Given the description of an element on the screen output the (x, y) to click on. 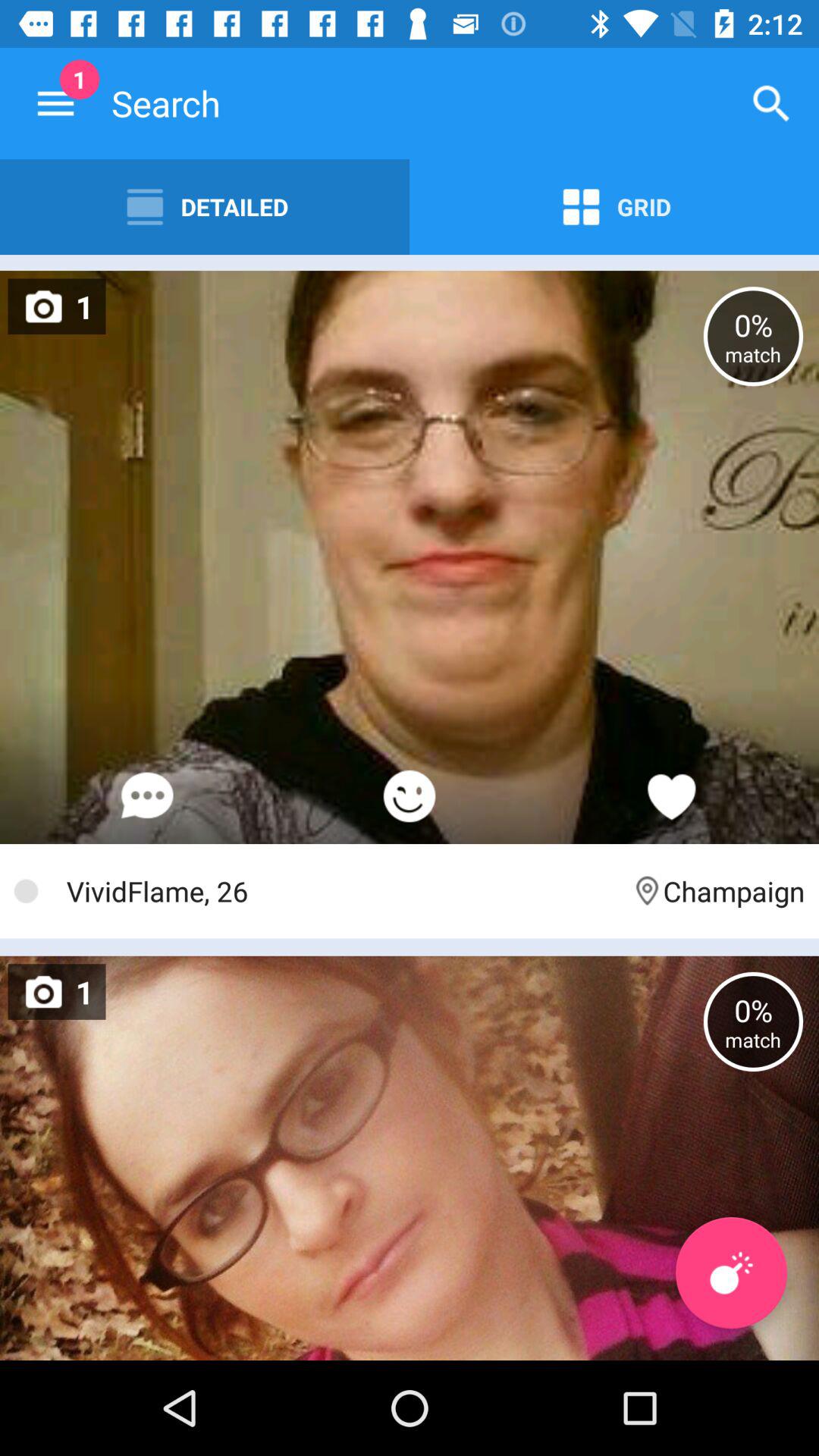
click the item next to the detailed icon (55, 103)
